Given the description of an element on the screen output the (x, y) to click on. 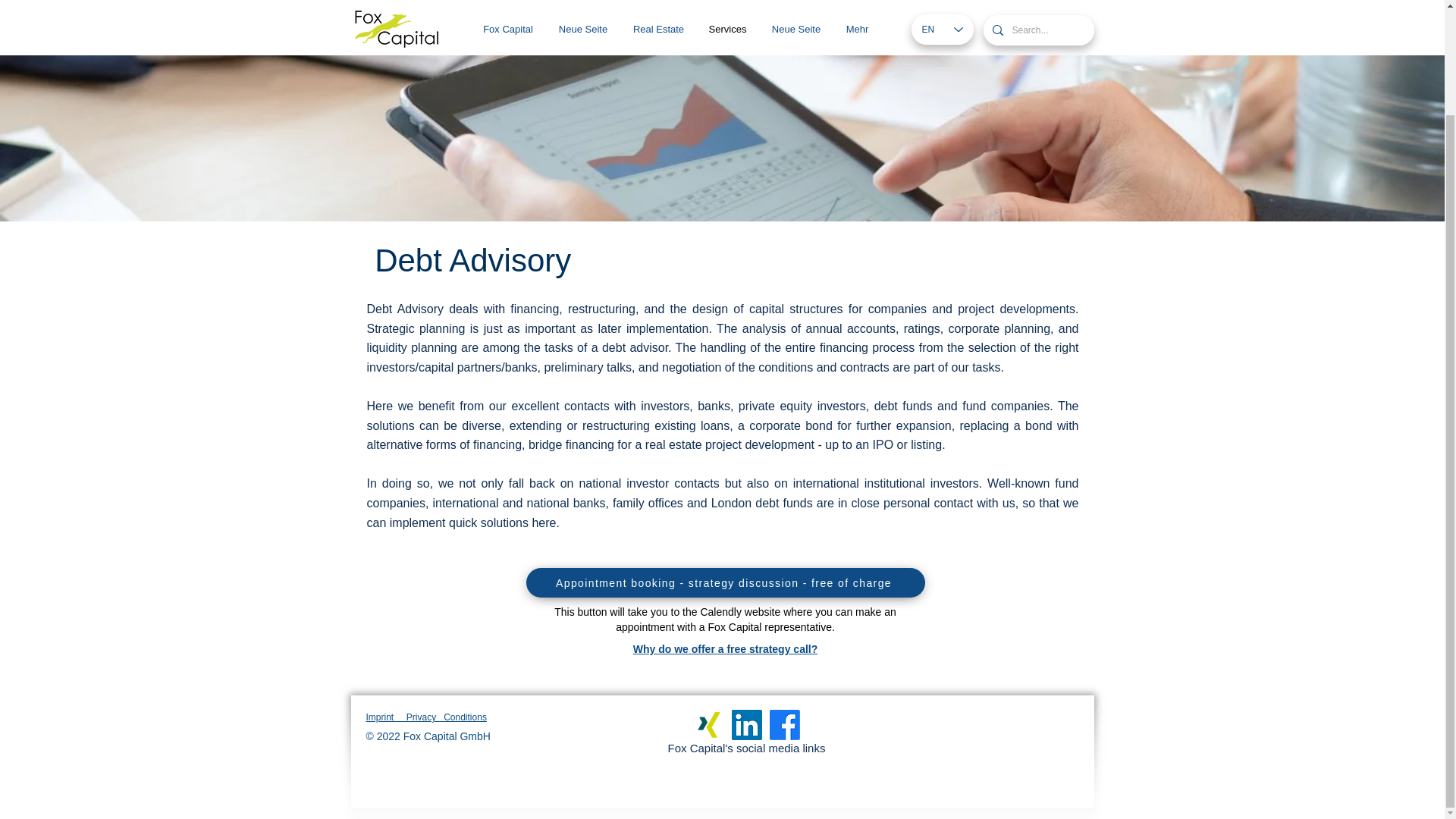
Appointment booking - strategy discussion - free of charge (724, 582)
Why do we offer a free strategy call? (725, 648)
Imprint     Privacy   Conditions (425, 716)
